Given the description of an element on the screen output the (x, y) to click on. 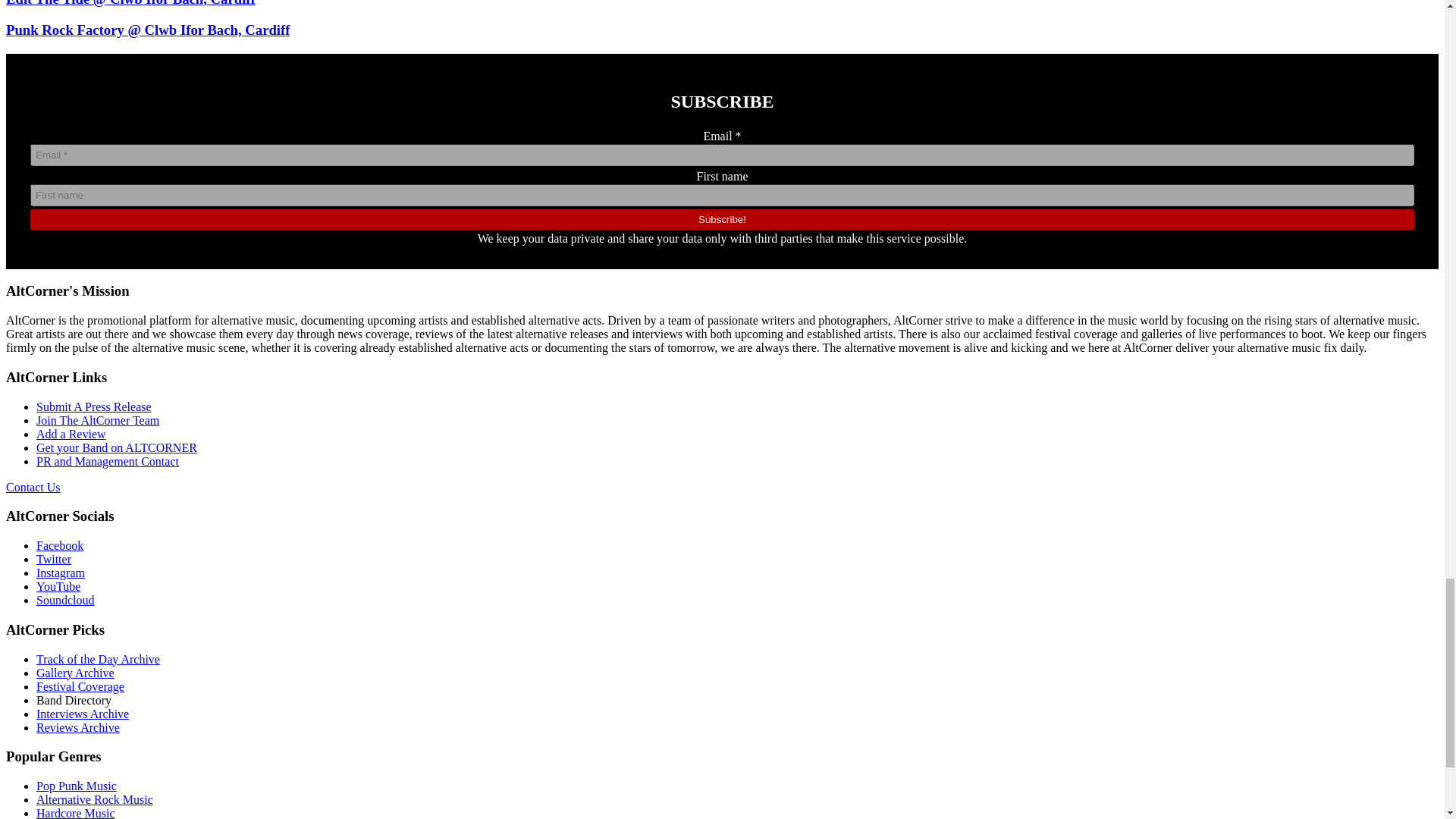
Subscribe! (721, 219)
Email (721, 155)
First name (721, 195)
